Given the description of an element on the screen output the (x, y) to click on. 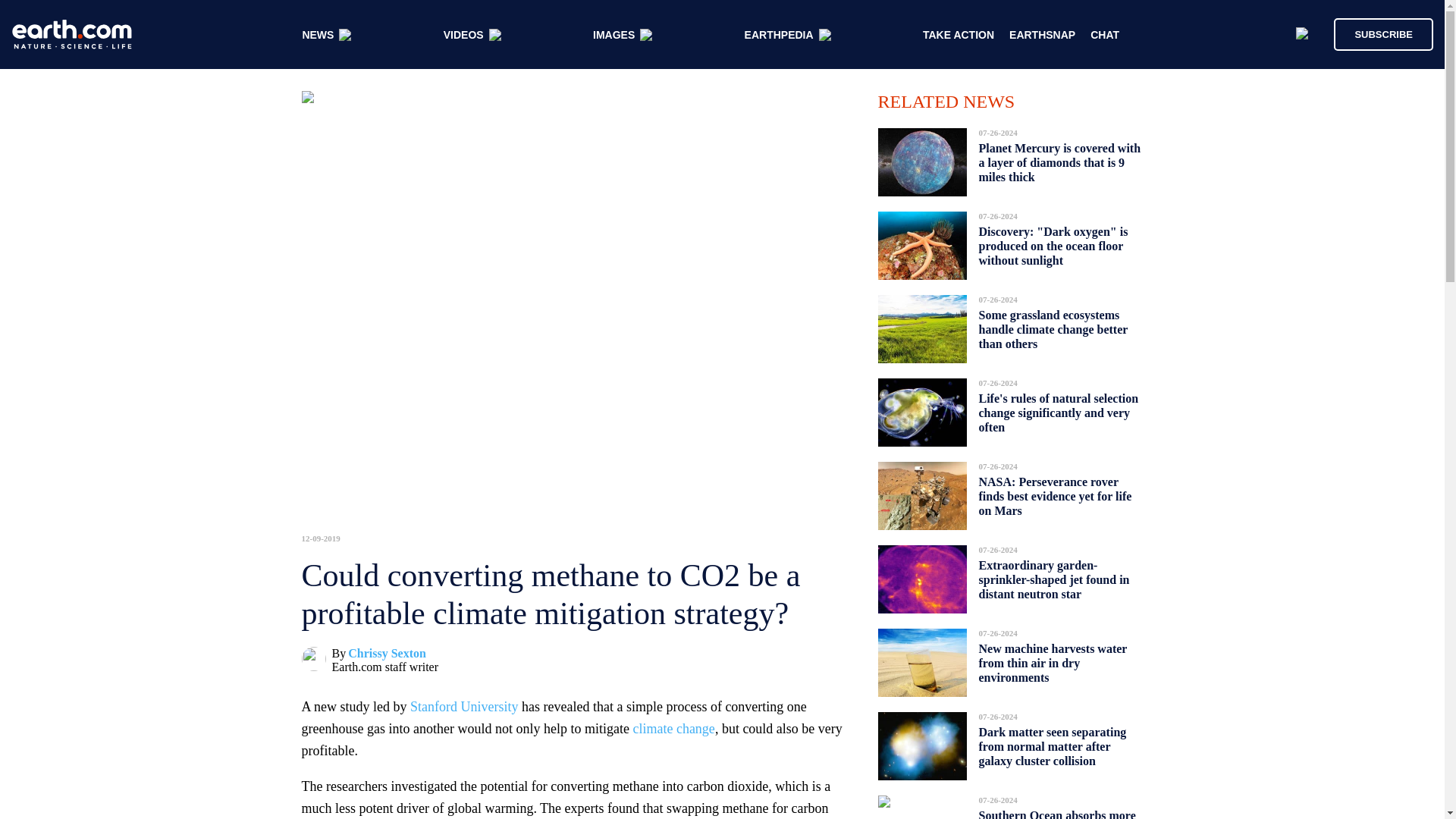
New machine harvests water from thin air in dry environments (1052, 662)
TAKE ACTION (958, 34)
SUBSCRIBE (1382, 34)
CHAT (1104, 34)
EARTHSNAP (1042, 34)
Southern Ocean absorbs more CO2 than previously thought (1056, 810)
SUBSCRIBE (1375, 33)
Chrissy Sexton (386, 653)
